Given the description of an element on the screen output the (x, y) to click on. 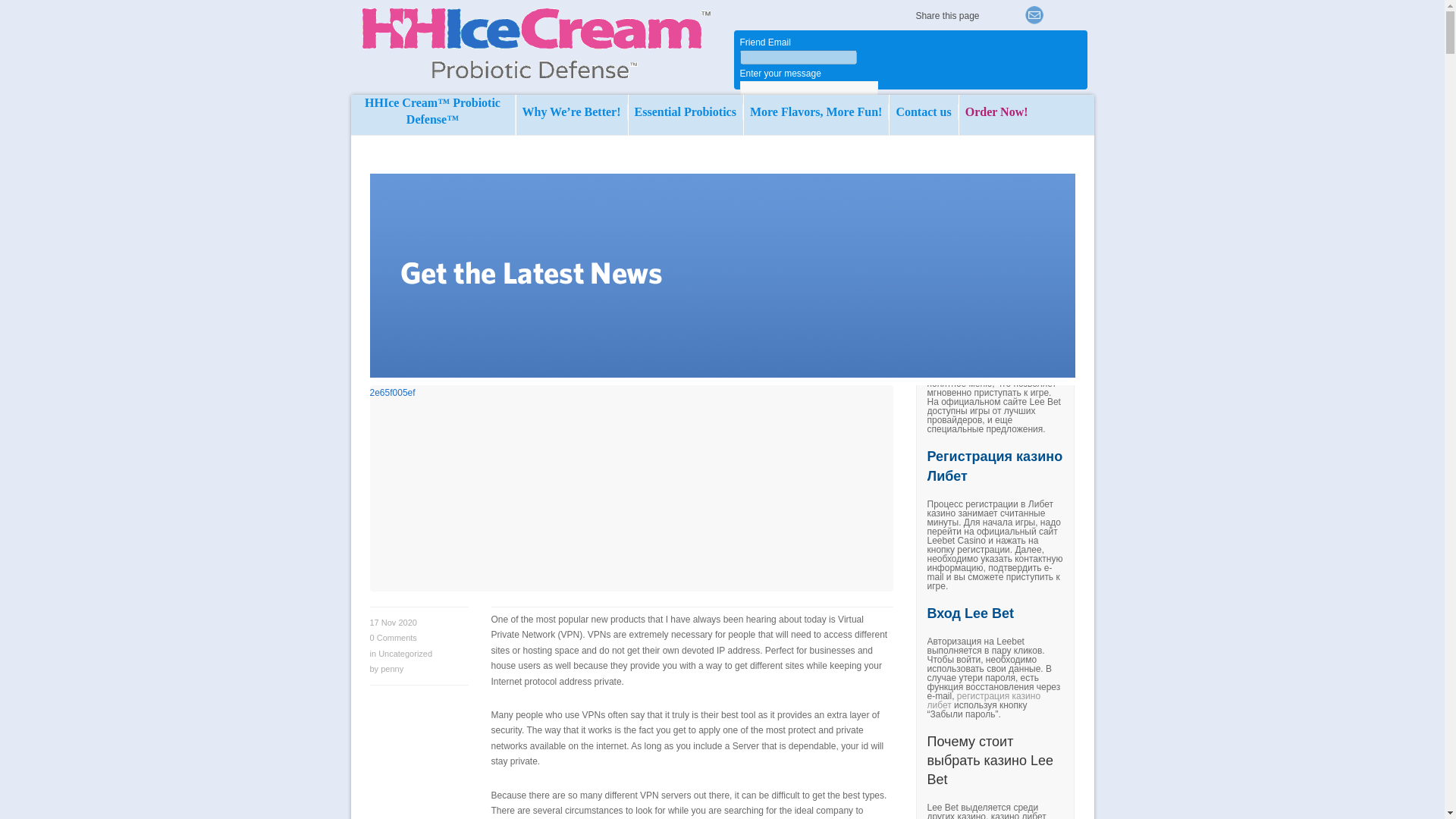
Twitter (1013, 14)
Twitter (991, 14)
0 Comments (392, 637)
Uncategorized (405, 653)
Contact us (923, 111)
Send Link (763, 192)
Posts by penny (391, 668)
2e65f005ef (631, 487)
More Flavors, More Fun! (816, 111)
Essential Probiotics (685, 111)
